Given the description of an element on the screen output the (x, y) to click on. 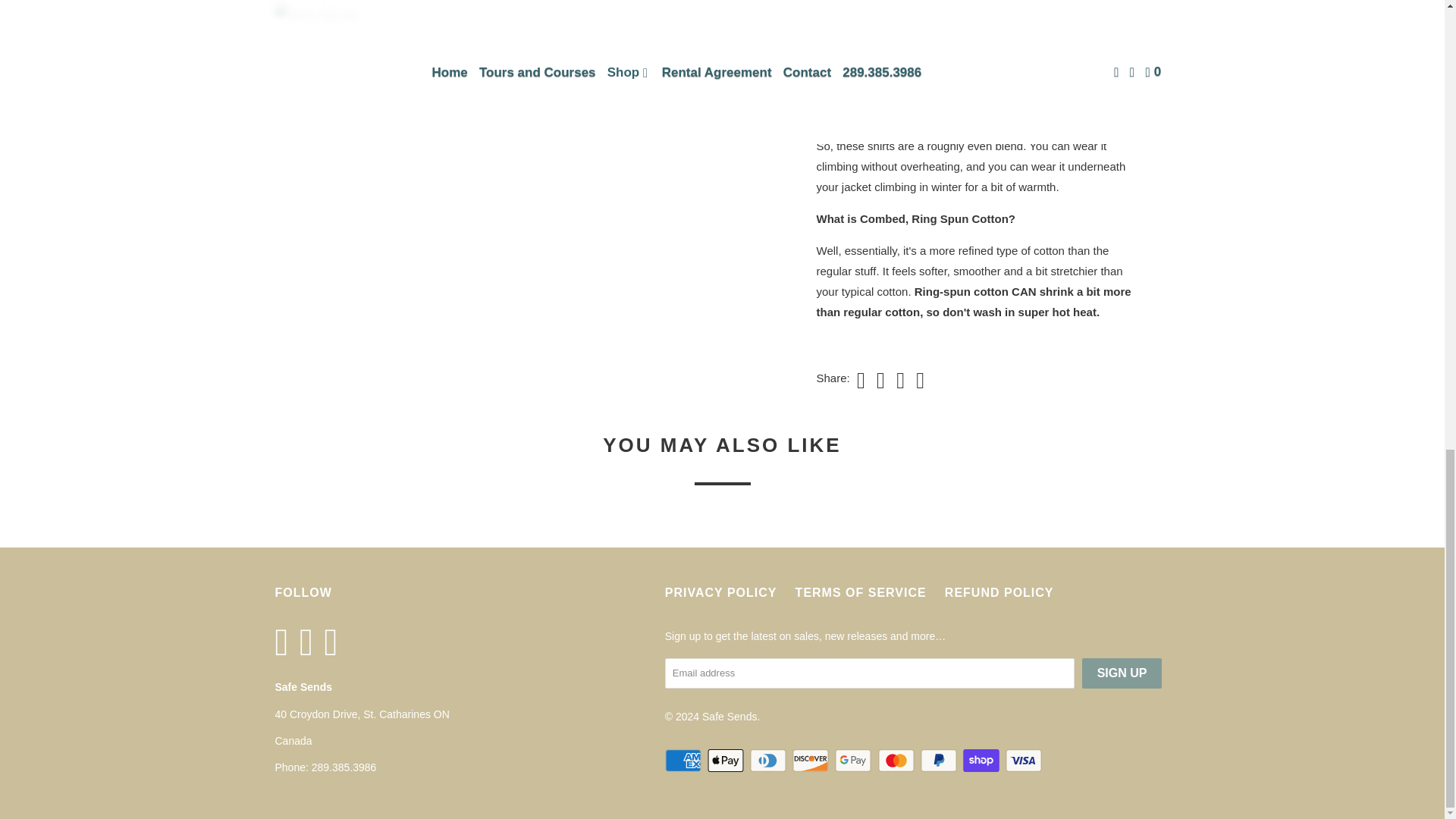
Mastercard (897, 760)
Sign Up (1121, 673)
American Express (684, 760)
Shop Pay (982, 760)
Visa (1025, 760)
Google Pay (854, 760)
Apple Pay (726, 760)
PayPal (939, 760)
Diners Club (769, 760)
Discover (811, 760)
